Given the description of an element on the screen output the (x, y) to click on. 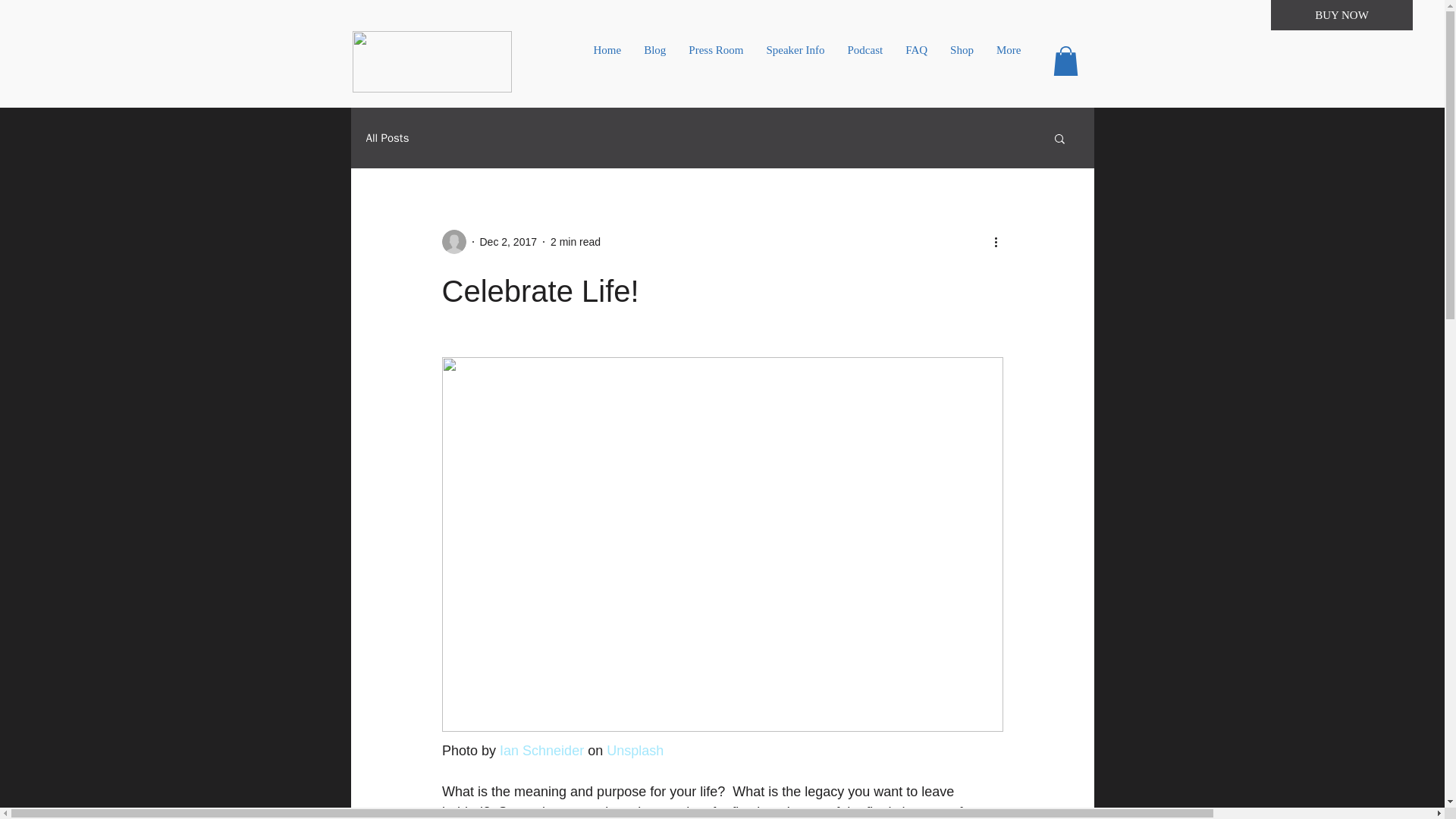
2 min read (574, 241)
Dec 2, 2017 (508, 241)
FAQ (916, 61)
Speaker Info (794, 61)
All Posts (387, 138)
Shop (962, 61)
Press Room (715, 61)
Ian Schneider (541, 750)
BUY NOW (1341, 15)
Home (607, 61)
Blog (654, 61)
Podcast (865, 61)
Unsplash (635, 750)
